Given the description of an element on the screen output the (x, y) to click on. 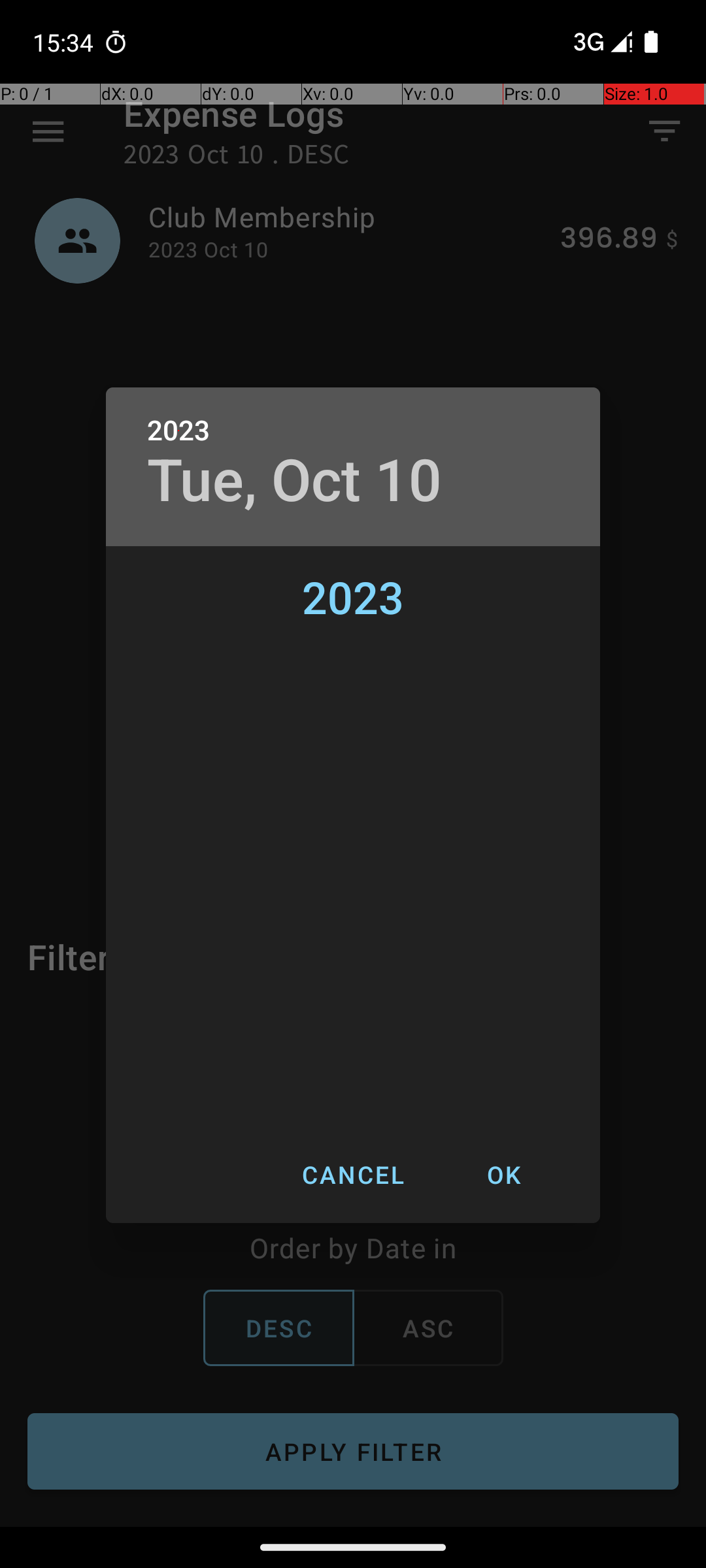
Tue, Oct 10 Element type: android.widget.TextView (294, 480)
